Given the description of an element on the screen output the (x, y) to click on. 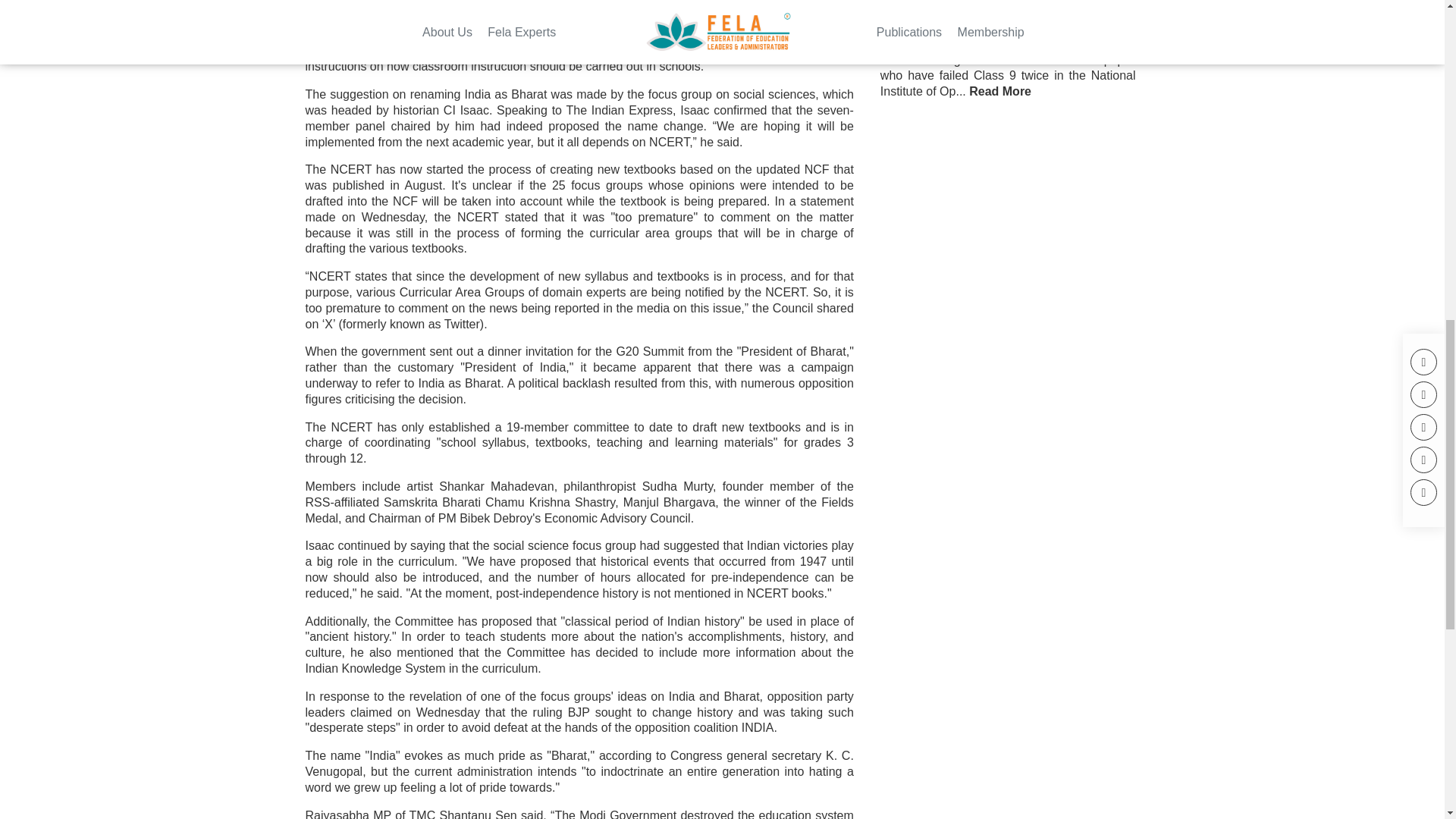
Read More (999, 91)
